Given the description of an element on the screen output the (x, y) to click on. 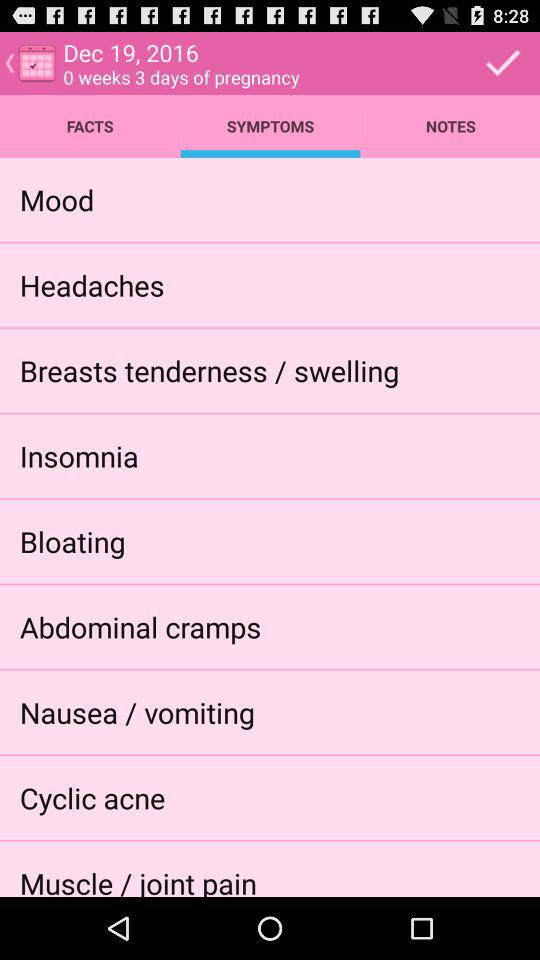
flip until the cyclic acne icon (92, 797)
